Given the description of an element on the screen output the (x, y) to click on. 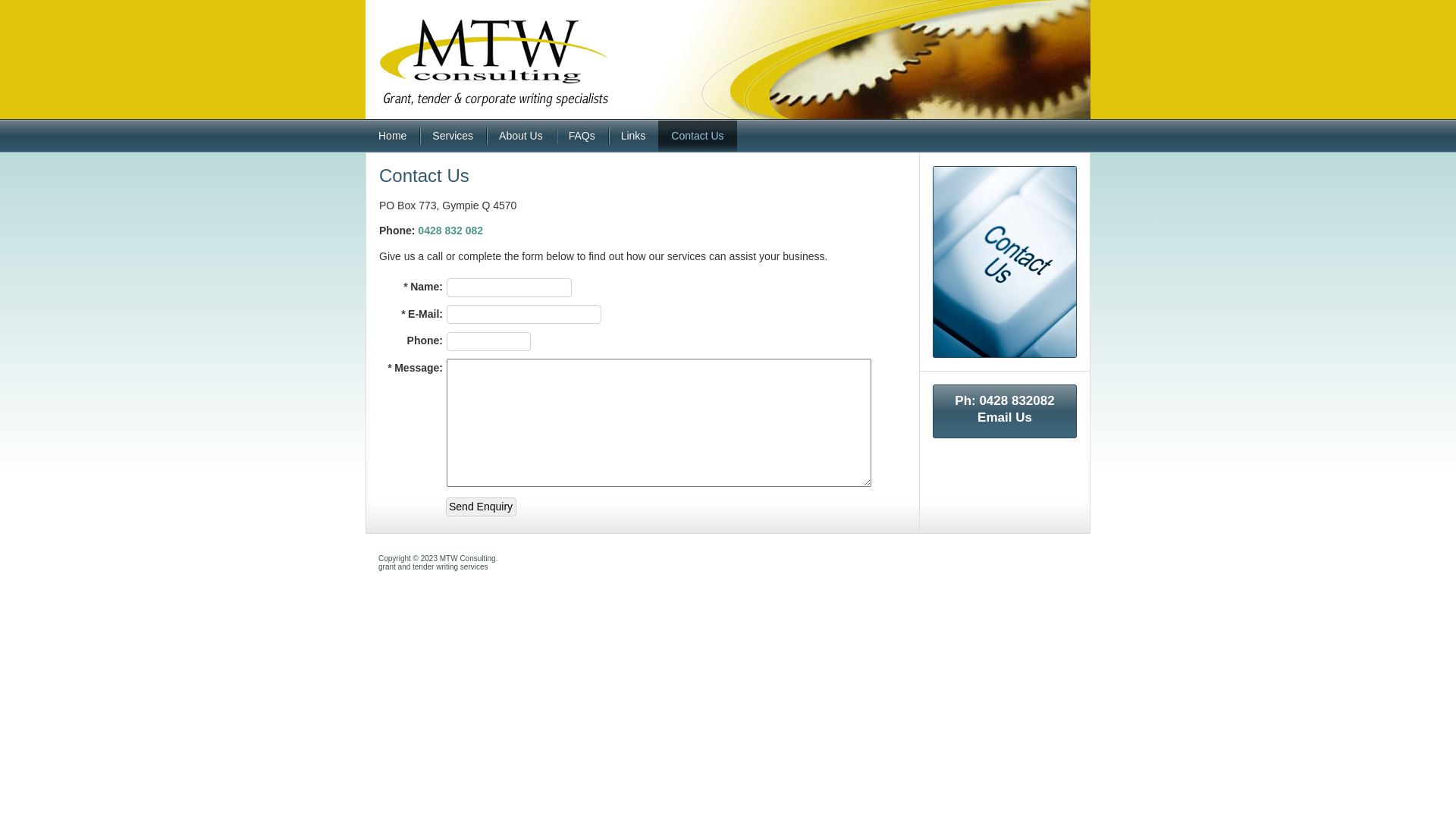
Links Element type: text (633, 135)
Services Element type: text (452, 135)
Email Us Element type: text (1004, 417)
Home Element type: text (392, 135)
Send Enquiry Element type: text (480, 506)
0428 832 082 Element type: text (450, 230)
Contact Us Element type: text (697, 135)
About Us Element type: text (520, 135)
FAQs Element type: text (581, 135)
